Given the description of an element on the screen output the (x, y) to click on. 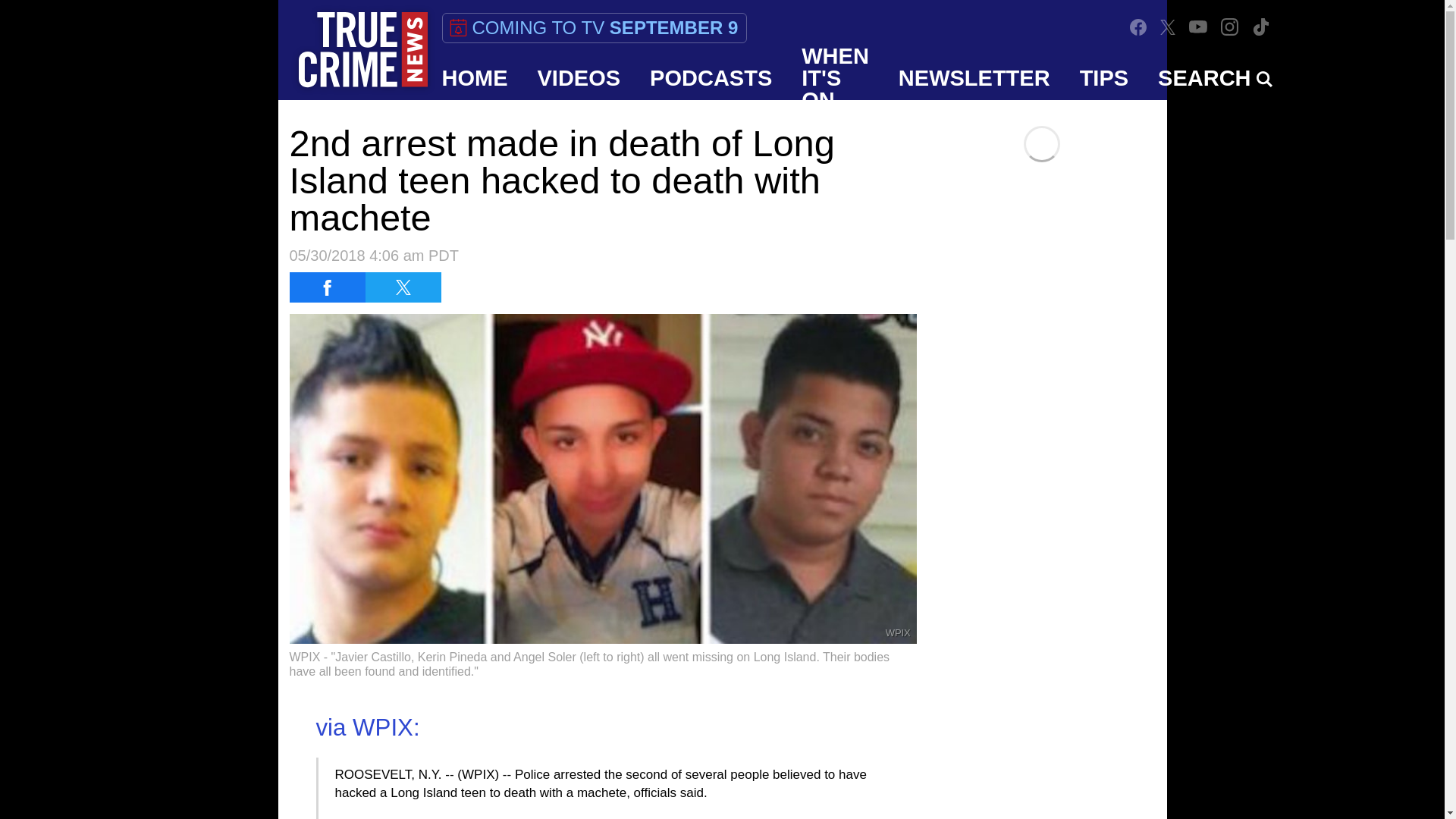
True Crime News (363, 49)
True Crime News (363, 49)
Instagram (1230, 27)
YouTube (1198, 26)
PODCASTS (710, 77)
Instagram (1229, 26)
TIPS (1103, 77)
TikTok (1260, 27)
Twitter (1167, 27)
VIDEOS (579, 77)
